Given the description of an element on the screen output the (x, y) to click on. 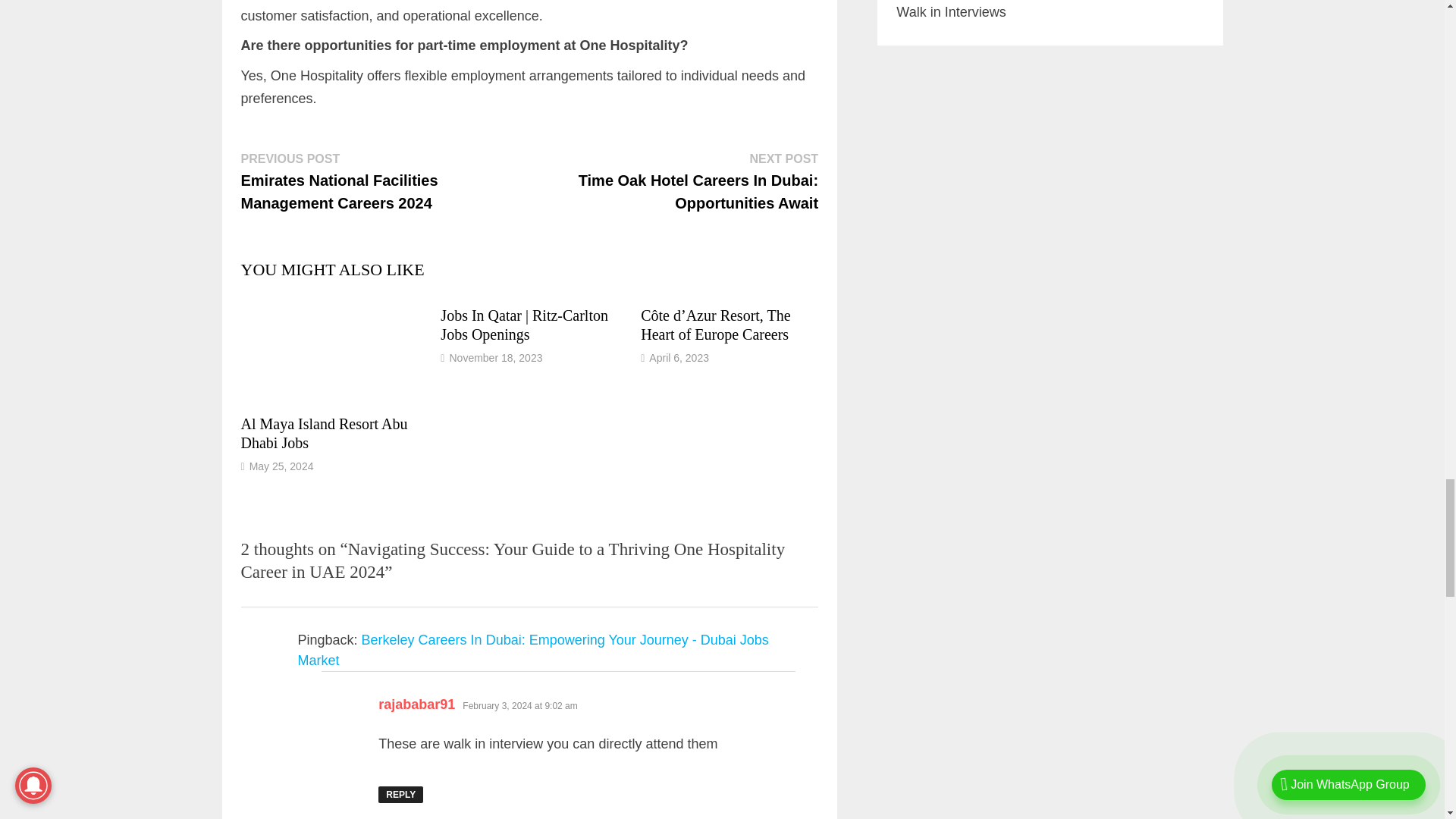
Al Maya Island Resort Abu Dhabi Jobs (324, 433)
